Given the description of an element on the screen output the (x, y) to click on. 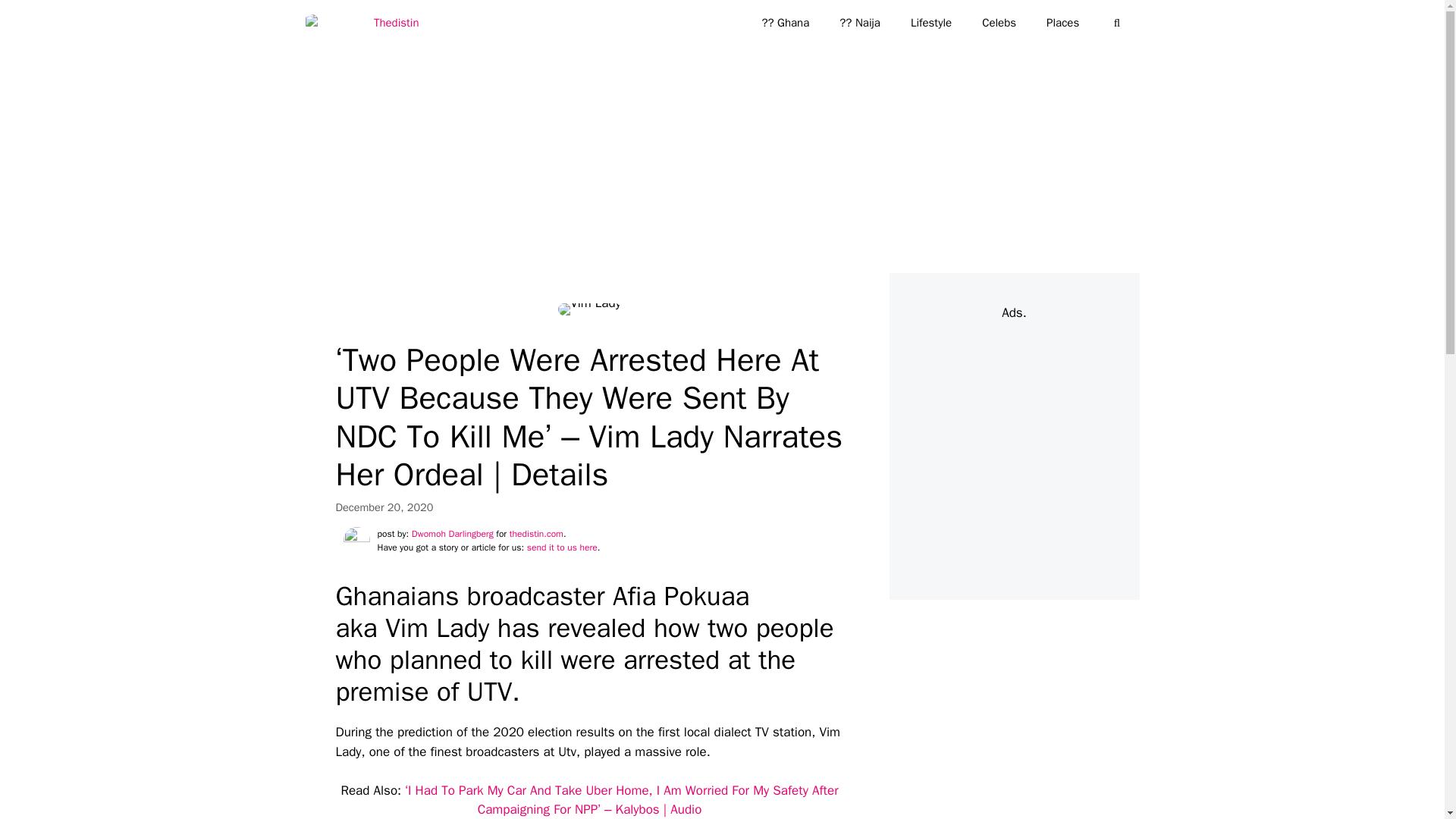
?? Naija (859, 22)
Thedistin (361, 22)
Lifestyle (930, 22)
thedistin.com (536, 533)
Search (35, 18)
Celebs (998, 22)
send it to us here (561, 547)
Dwomoh Darlingberg (452, 533)
?? Ghana (784, 22)
Thedistin (365, 22)
Places (1062, 22)
